Given the description of an element on the screen output the (x, y) to click on. 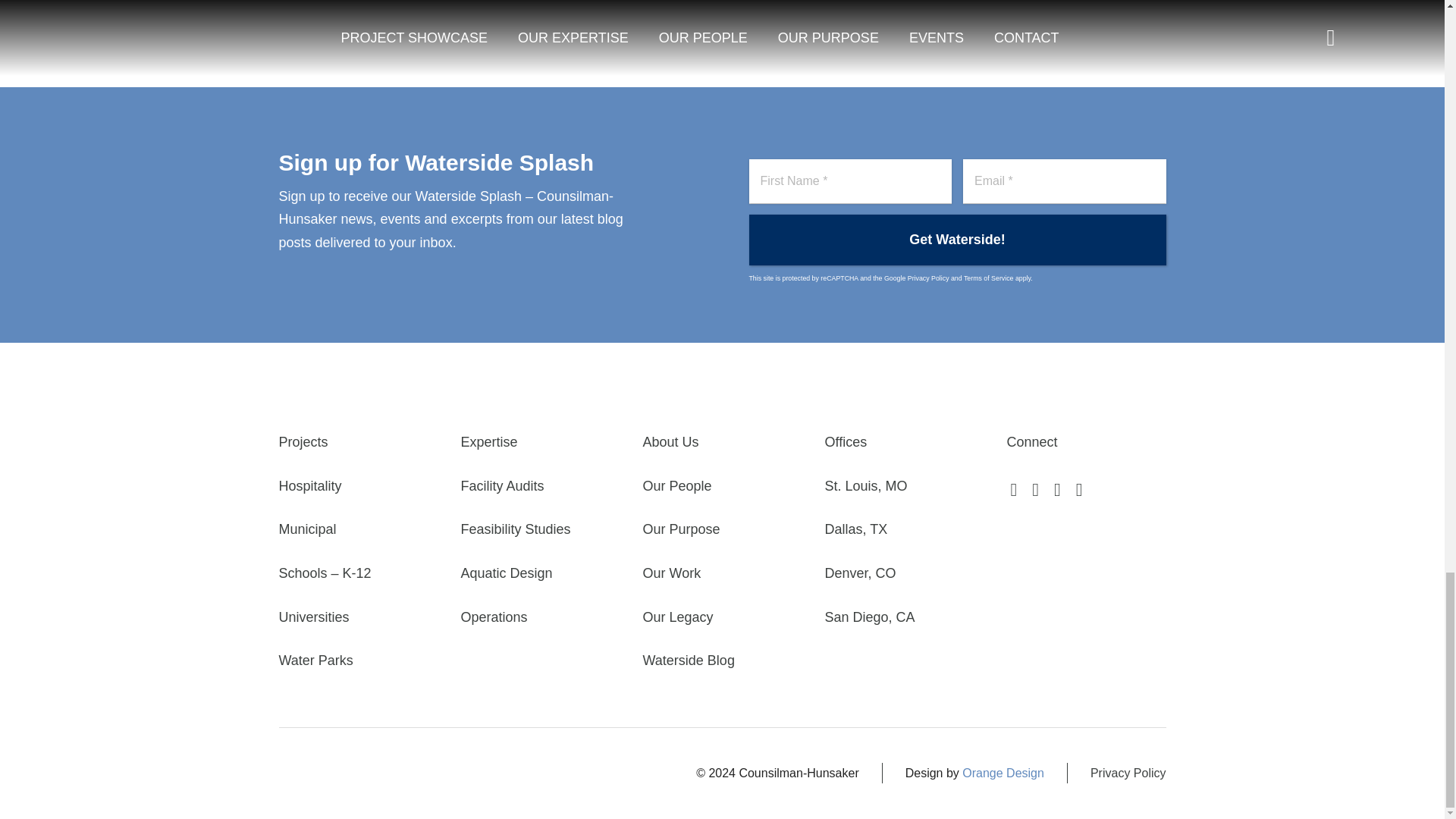
Get Waterside! (957, 239)
Water Parks (358, 660)
Privacy Policy (928, 277)
Get Waterside! (957, 239)
Municipal (358, 529)
Universities (358, 616)
Terms of Service (988, 277)
Hospitality (358, 486)
Facility Audits (540, 486)
